Given the description of an element on the screen output the (x, y) to click on. 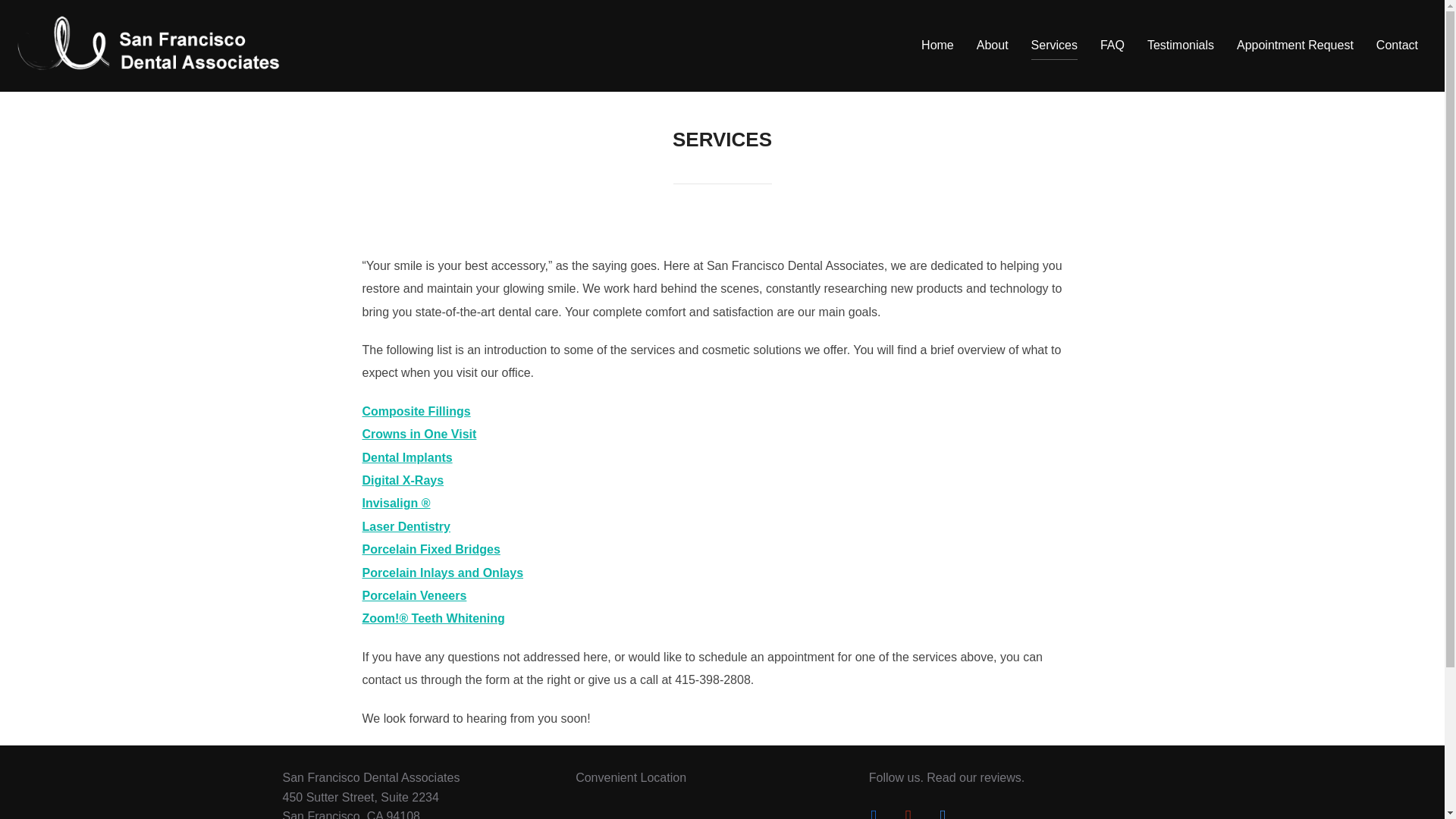
Home (937, 45)
Appointment Request (1295, 45)
Digital X-Rays (403, 480)
Dental Implants (407, 457)
gumroad (942, 813)
Porcelain Inlays and Onlays (443, 572)
Laser Dentistry (406, 526)
Contact (1396, 45)
Porcelain Veneers (414, 594)
Testimonials (1180, 45)
facebook (873, 813)
Crowns in One Visit (419, 433)
yelp (907, 813)
Google (942, 813)
Facebook (873, 813)
